Given the description of an element on the screen output the (x, y) to click on. 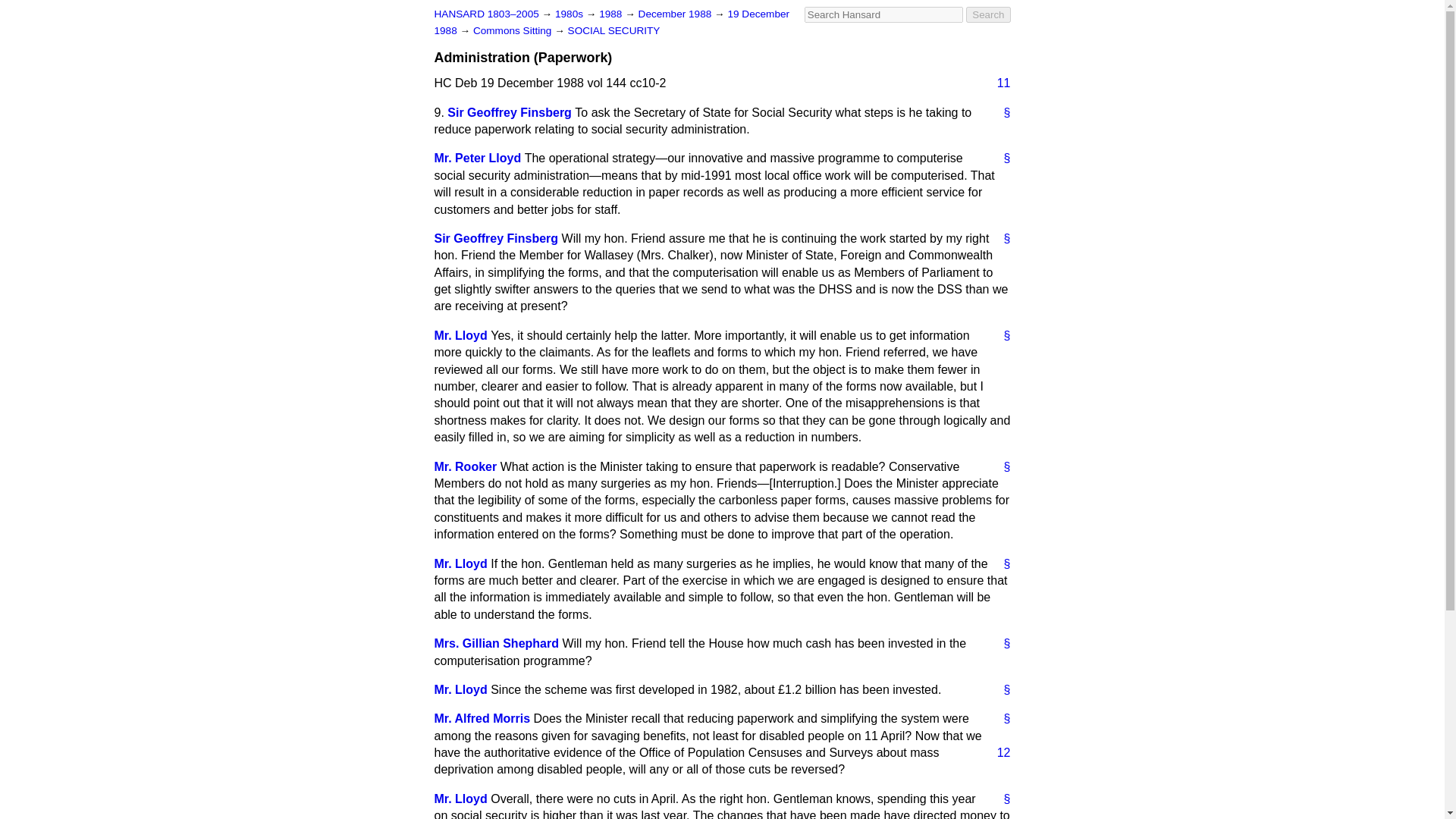
Link to this speech by Sir Peter Lloyd (1000, 158)
SOCIAL SECURITY (614, 30)
Access key: S (883, 14)
Mr. Rooker (464, 466)
Sir Peter Lloyd (459, 563)
Sir Geoffrey Finsberg (509, 112)
Sir Peter Lloyd (477, 157)
Link to this speech by Sir Peter Lloyd (1000, 689)
1980s (570, 13)
19 December 1988 (611, 22)
Link to this speech by Sir Peter Lloyd (1000, 564)
Link to this speech by Mr Geoffrey Finsberg (1000, 112)
Link to this speech by Mr Geoffrey Finsberg (1000, 238)
Link to this speech by Mr Jeff Rooker (1000, 466)
12 (997, 752)
